Given the description of an element on the screen output the (x, y) to click on. 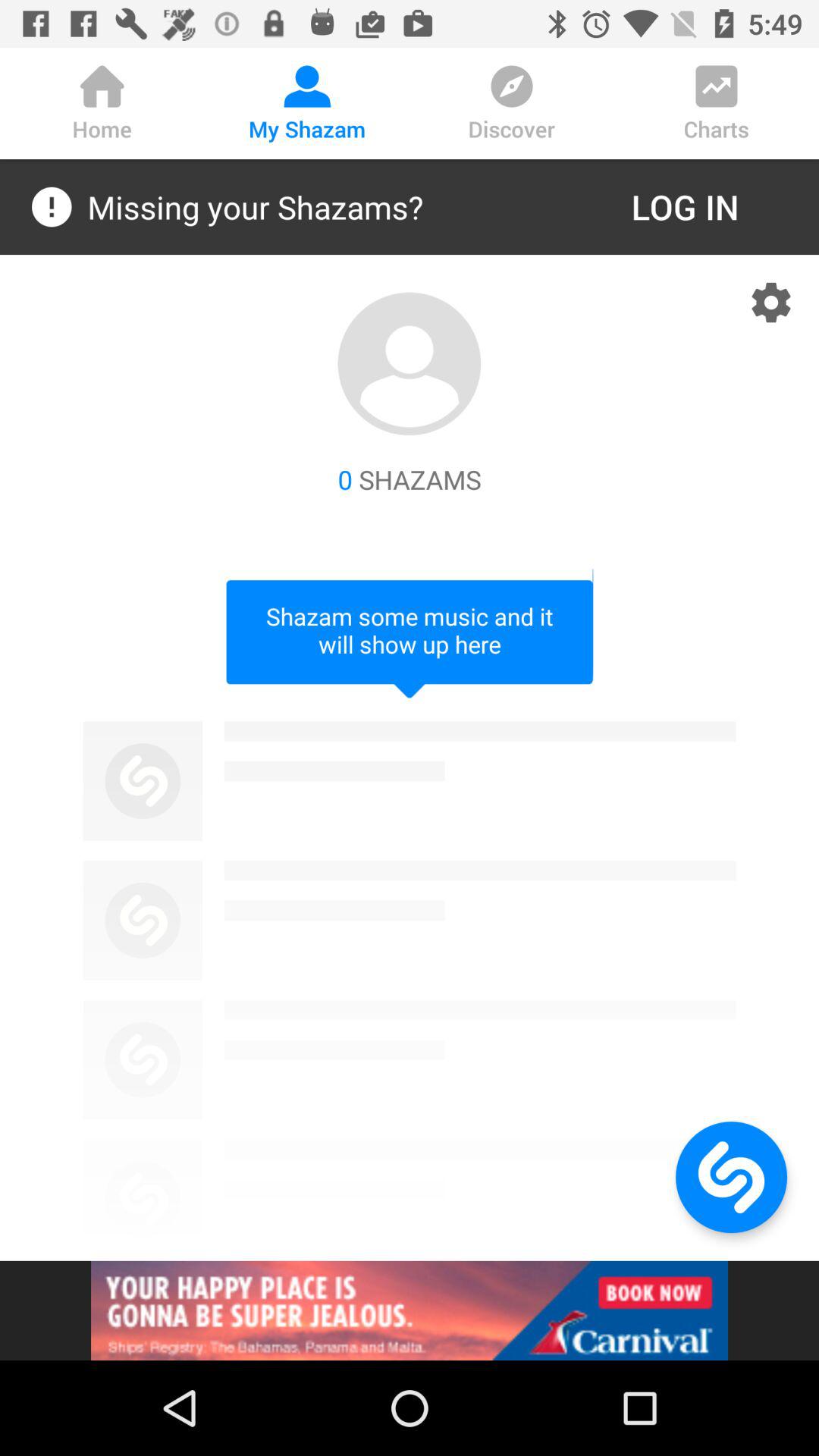
goes to advertisement page (409, 1310)
